Given the description of an element on the screen output the (x, y) to click on. 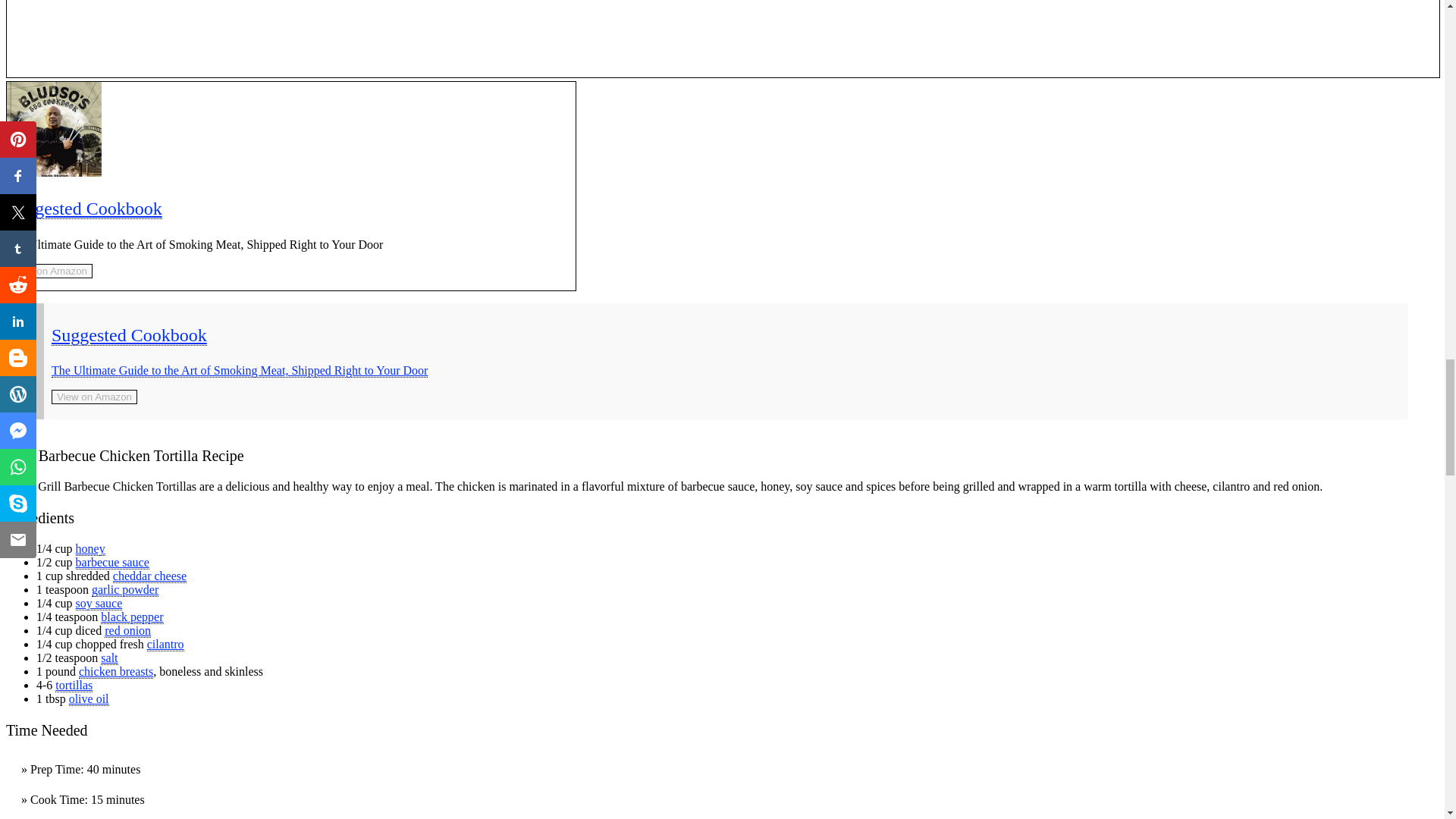
View on Amazon (50, 270)
Suggested Cookbook (84, 209)
View on Amazon (50, 269)
